Given the description of an element on the screen output the (x, y) to click on. 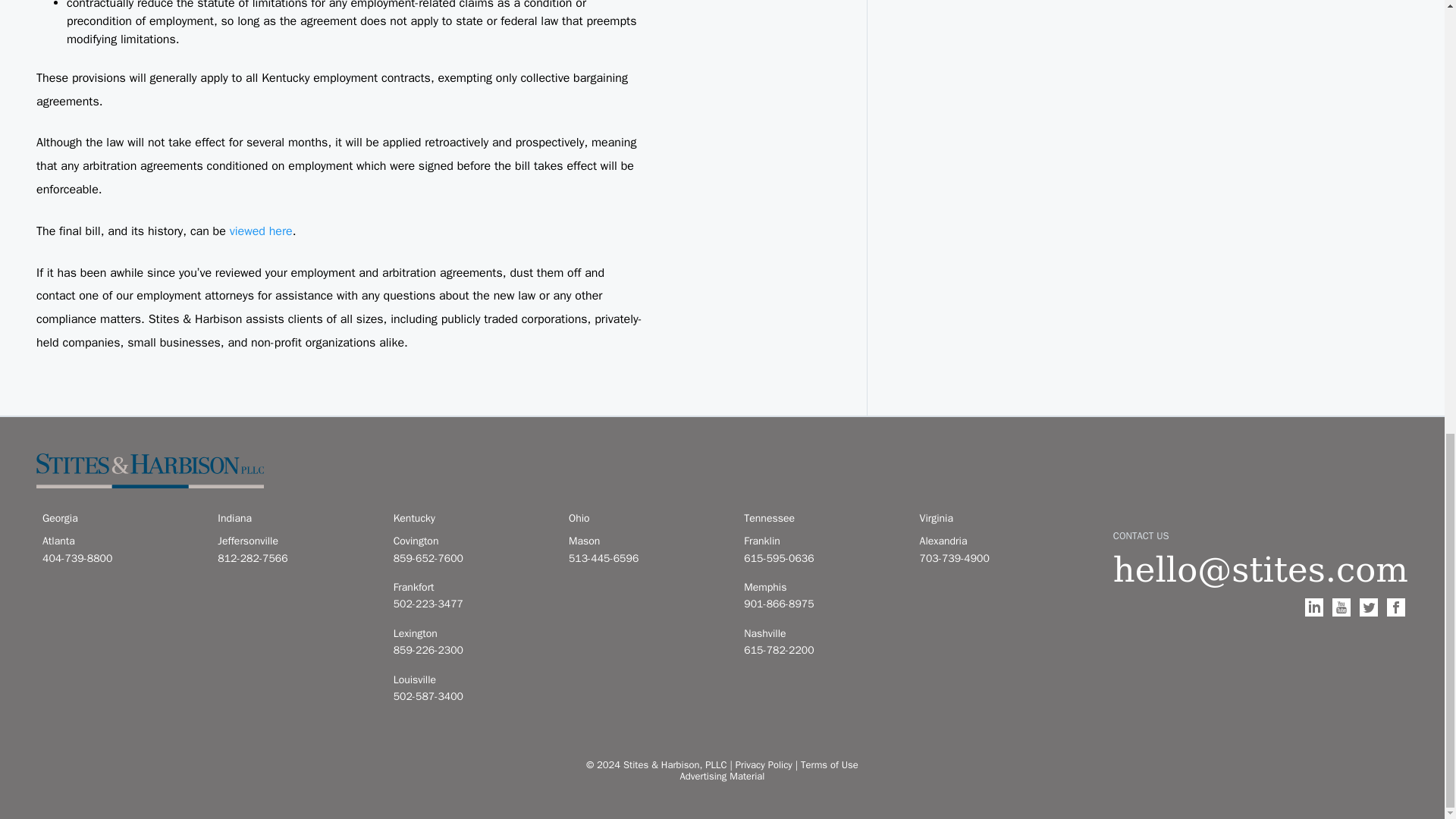
Louisville (471, 679)
Nashville (822, 633)
502-223-3477 (471, 604)
Atlanta (120, 541)
513-445-6596 (647, 558)
Jeffersonville (295, 541)
Memphis (822, 587)
859-226-2300 (471, 650)
Alexandria (998, 541)
404-739-8800 (120, 558)
502-587-3400 (471, 696)
812-282-7566 (295, 558)
Frankfort (471, 587)
Mason (647, 541)
859-652-7600 (471, 558)
